Given the description of an element on the screen output the (x, y) to click on. 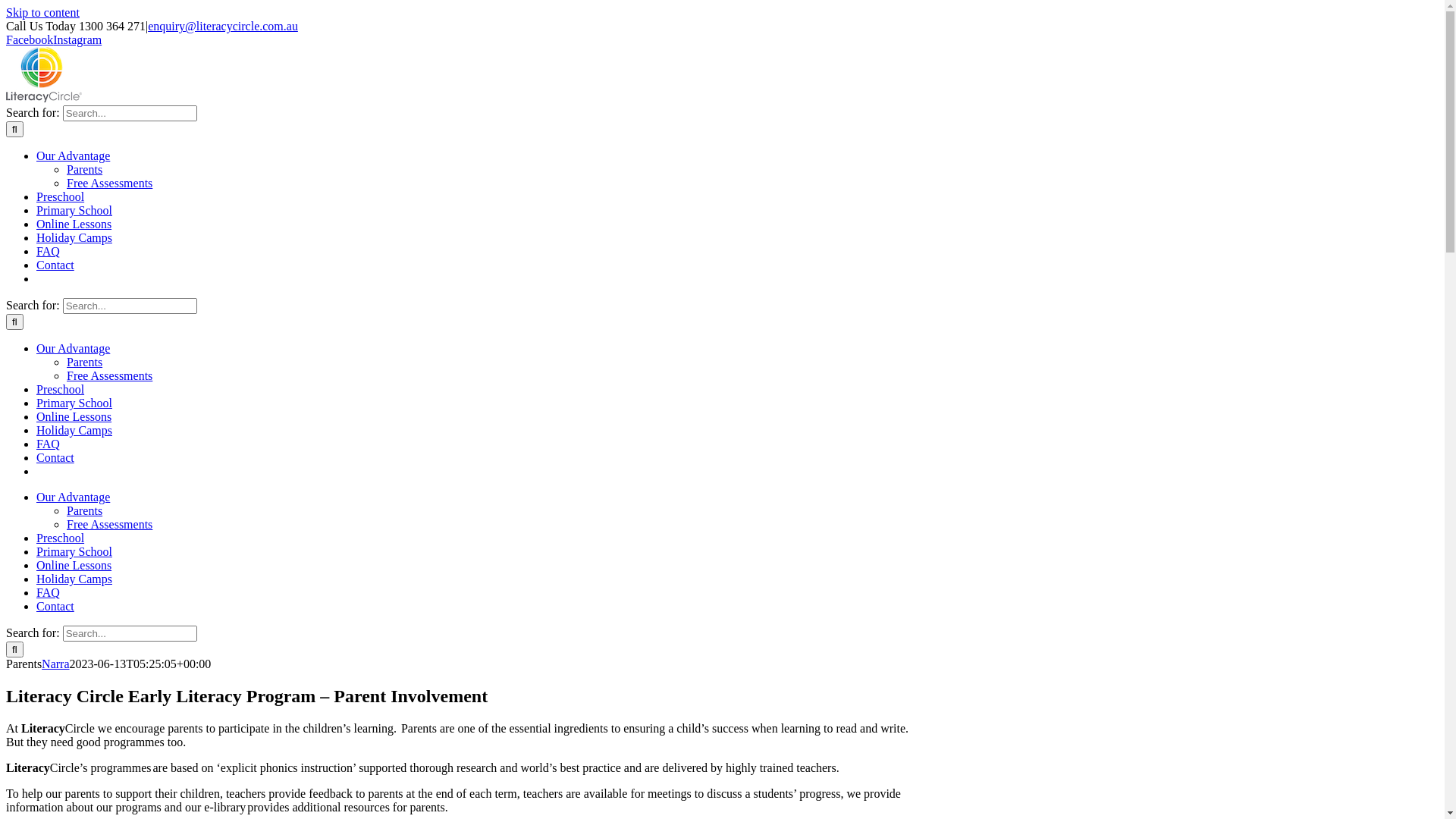
Contact Element type: text (55, 605)
Narra Element type: text (55, 663)
Free Assessments Element type: text (109, 375)
Parents Element type: text (84, 169)
Preschool Element type: text (60, 537)
Primary School Element type: text (74, 551)
Free Assessments Element type: text (109, 523)
Online Lessons Element type: text (73, 223)
FAQ Element type: text (47, 592)
Online Lessons Element type: text (73, 416)
Primary School Element type: text (74, 402)
Contact Element type: text (55, 264)
FAQ Element type: text (47, 250)
FAQ Element type: text (47, 443)
Online Lessons Element type: text (73, 564)
Free Assessments Element type: text (109, 182)
enquiry@literacycircle.com.au Element type: text (222, 25)
Our Advantage Element type: text (72, 348)
Holiday Camps Element type: text (74, 429)
Preschool Element type: text (60, 388)
Contact Element type: text (55, 457)
Parents Element type: text (84, 510)
Primary School Element type: text (74, 209)
Our Advantage Element type: text (72, 155)
Instagram Element type: text (77, 39)
Our Advantage Element type: text (72, 496)
Facebook Element type: text (29, 39)
Holiday Camps Element type: text (74, 578)
Holiday Camps Element type: text (74, 237)
Parents Element type: text (84, 361)
Skip to content Element type: text (42, 12)
Preschool Element type: text (60, 196)
